Given the description of an element on the screen output the (x, y) to click on. 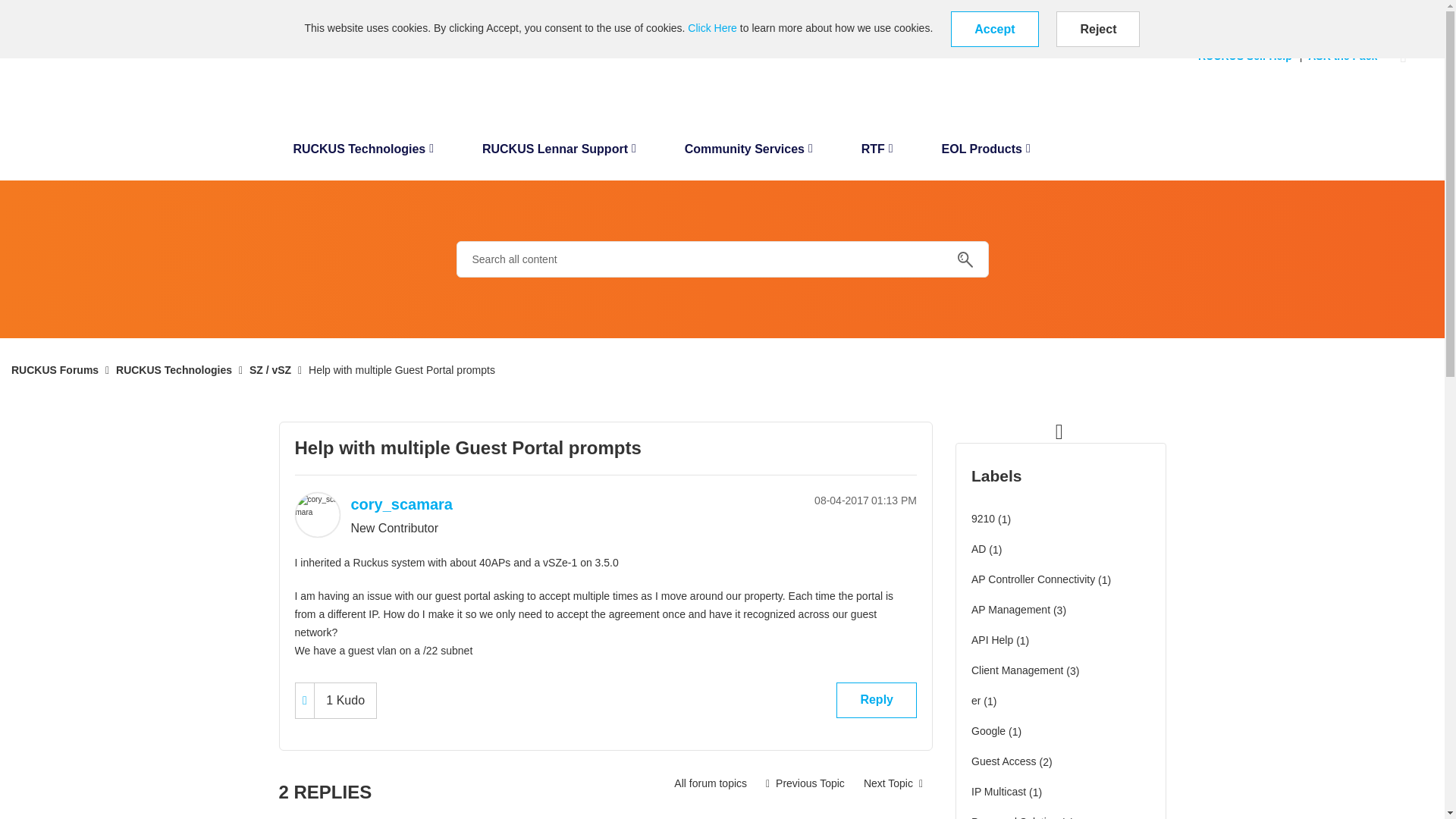
SmartZone and Virtual SmartZone (710, 783)
RUCKUS Lennar Support (558, 153)
CommScope RUCKUS Community Forums (89, 67)
Search (964, 258)
Search (964, 258)
RUCKUS Technologies (363, 153)
Search (722, 258)
BACK TO SUPPORT PORTAL (74, 10)
Reject (1098, 28)
Click Here (711, 28)
